Given the description of an element on the screen output the (x, y) to click on. 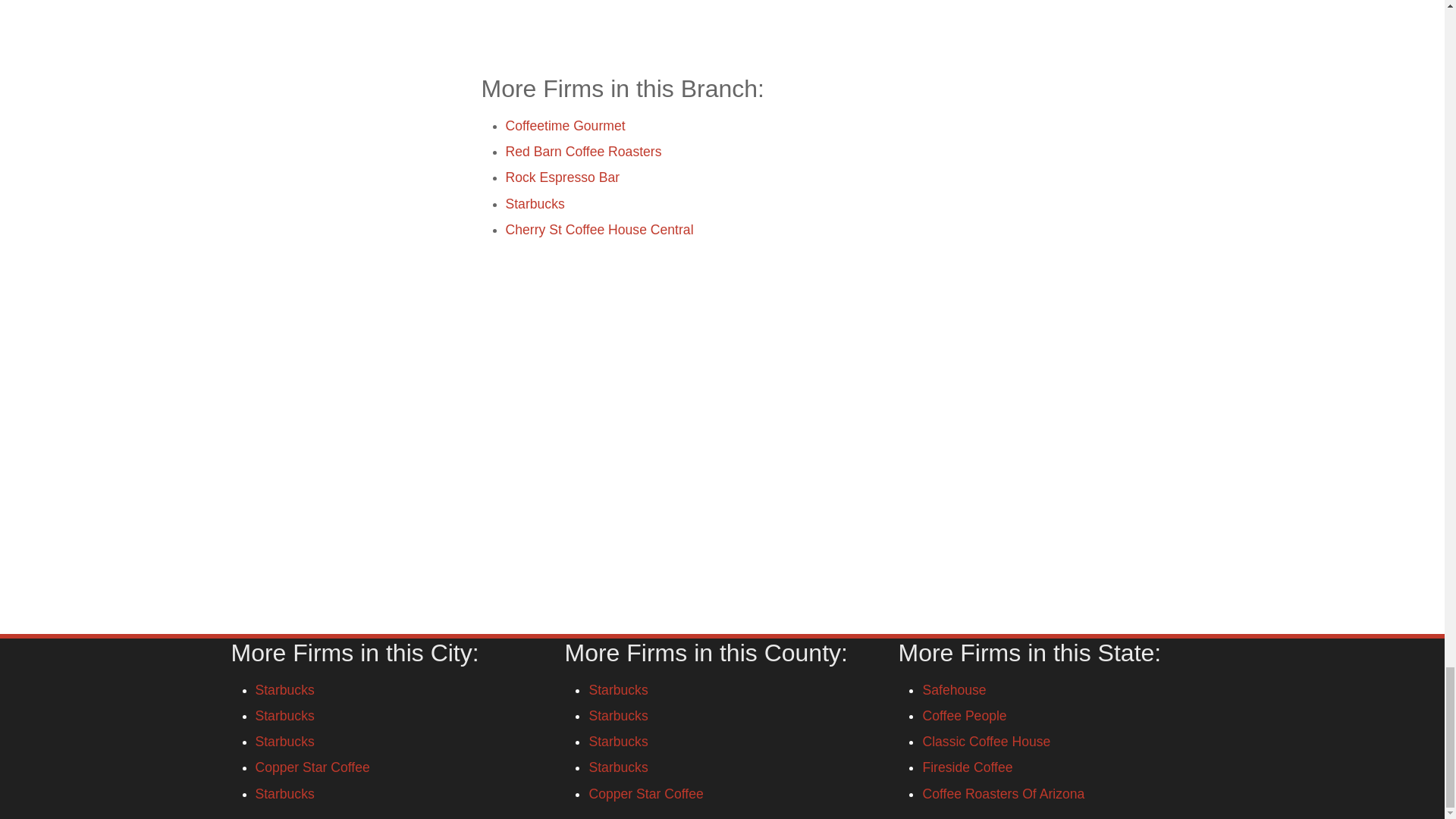
Cherry St Coffee House Central (599, 229)
Red Barn Coffee Roasters (583, 151)
Starbucks (534, 203)
Coffeetime Gourmet (564, 125)
Rock Espresso Bar (562, 177)
